Given the description of an element on the screen output the (x, y) to click on. 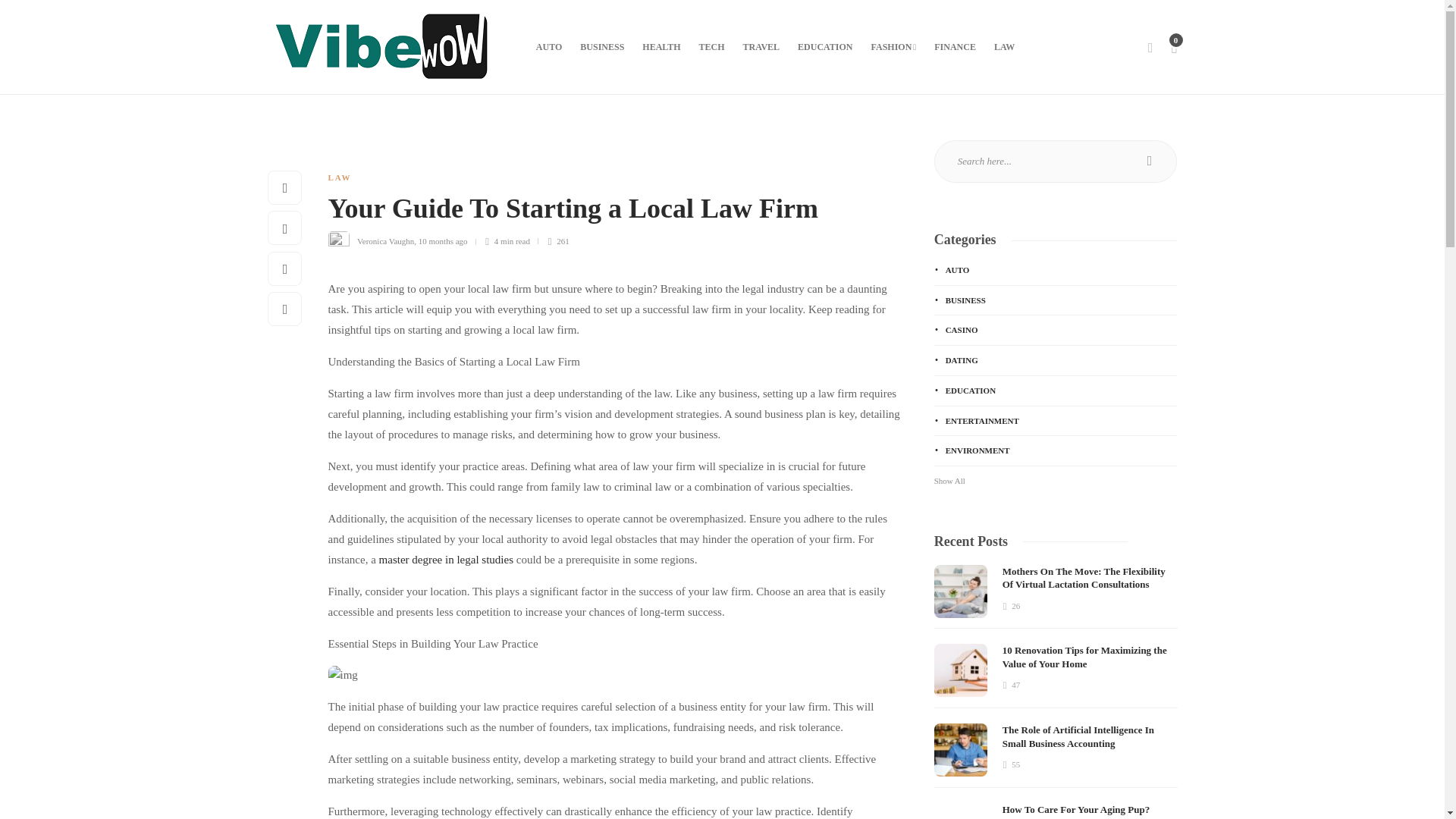
LAW (338, 176)
10 months ago (443, 240)
master degree in legal studies (445, 559)
Your Guide To Starting a Local Law Firm  (603, 212)
Veronica Vaughn (384, 240)
Search text (1055, 161)
EDUCATION (824, 47)
